Given the description of an element on the screen output the (x, y) to click on. 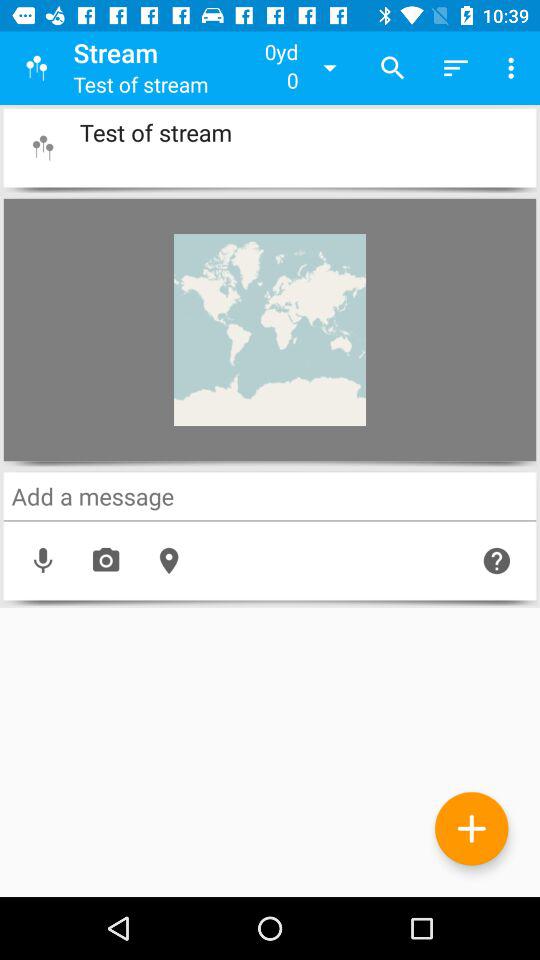
go to advertisement putturn (471, 828)
